Given the description of an element on the screen output the (x, y) to click on. 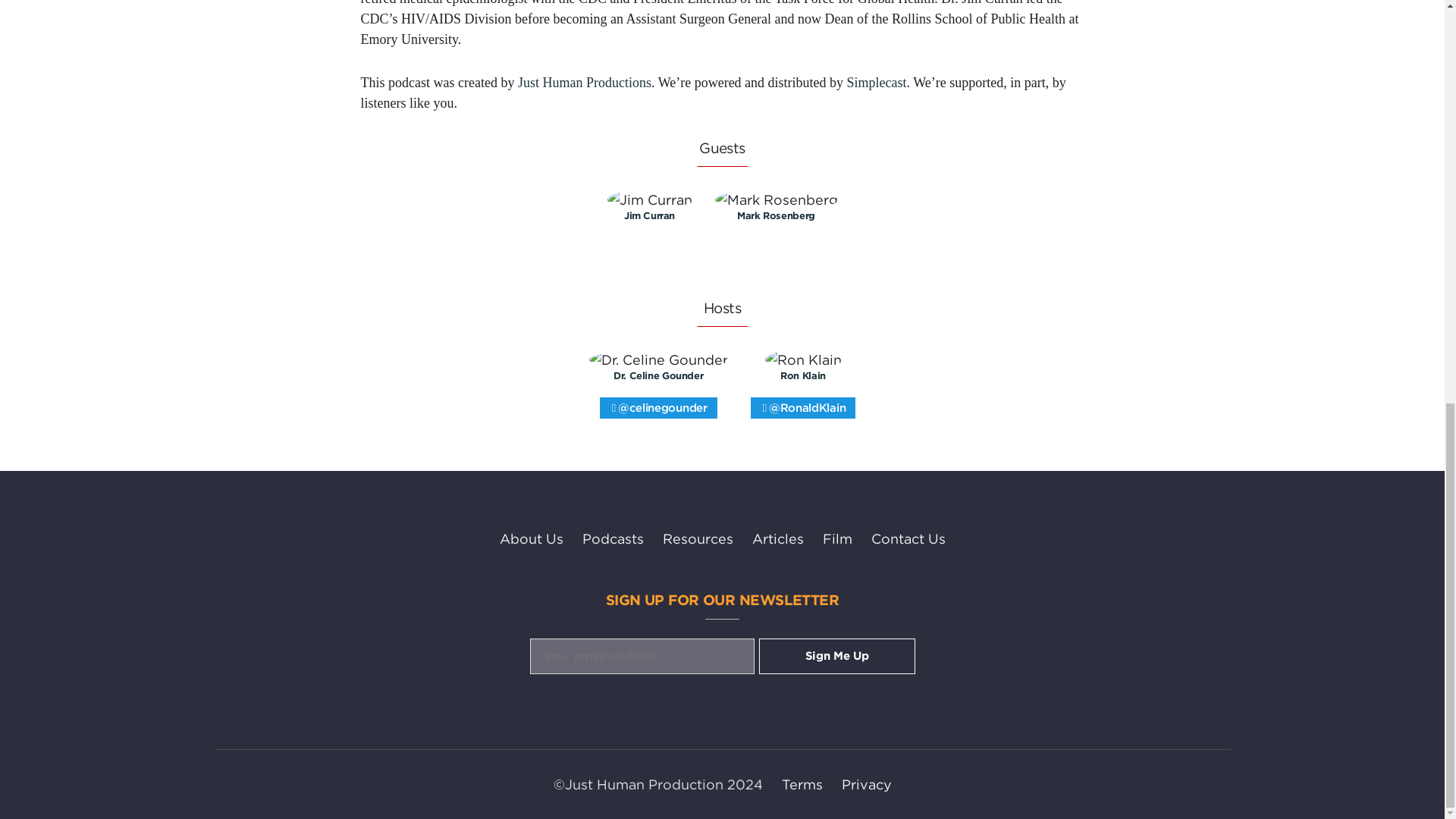
Resources (697, 538)
Film (836, 538)
About Us (530, 538)
Podcasts (612, 538)
Just Human Productions (584, 82)
Articles (777, 538)
Simplecast (877, 82)
